Given the description of an element on the screen output the (x, y) to click on. 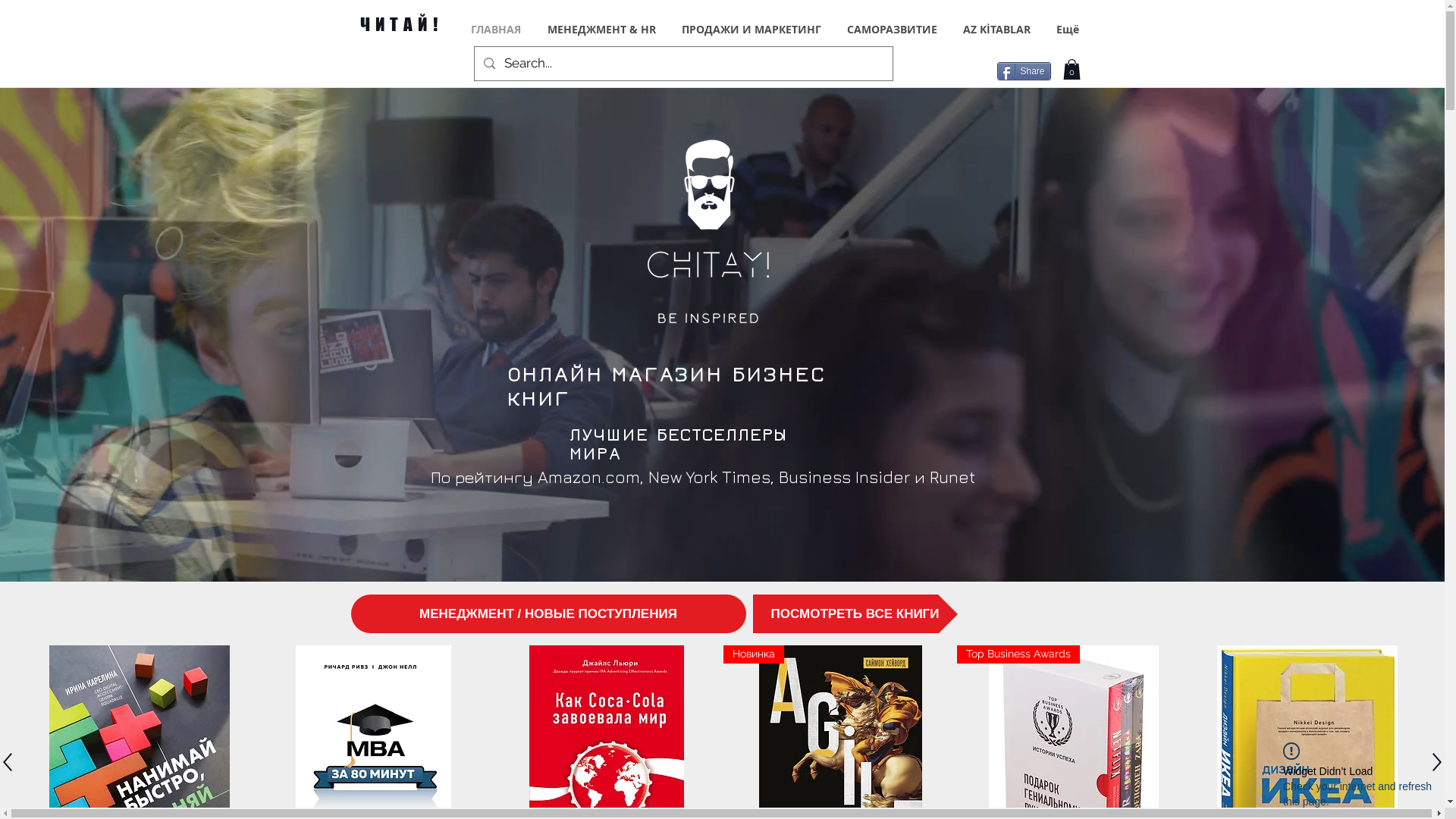
Share Element type: text (1023, 71)
0 Element type: text (1071, 69)
